Given the description of an element on the screen output the (x, y) to click on. 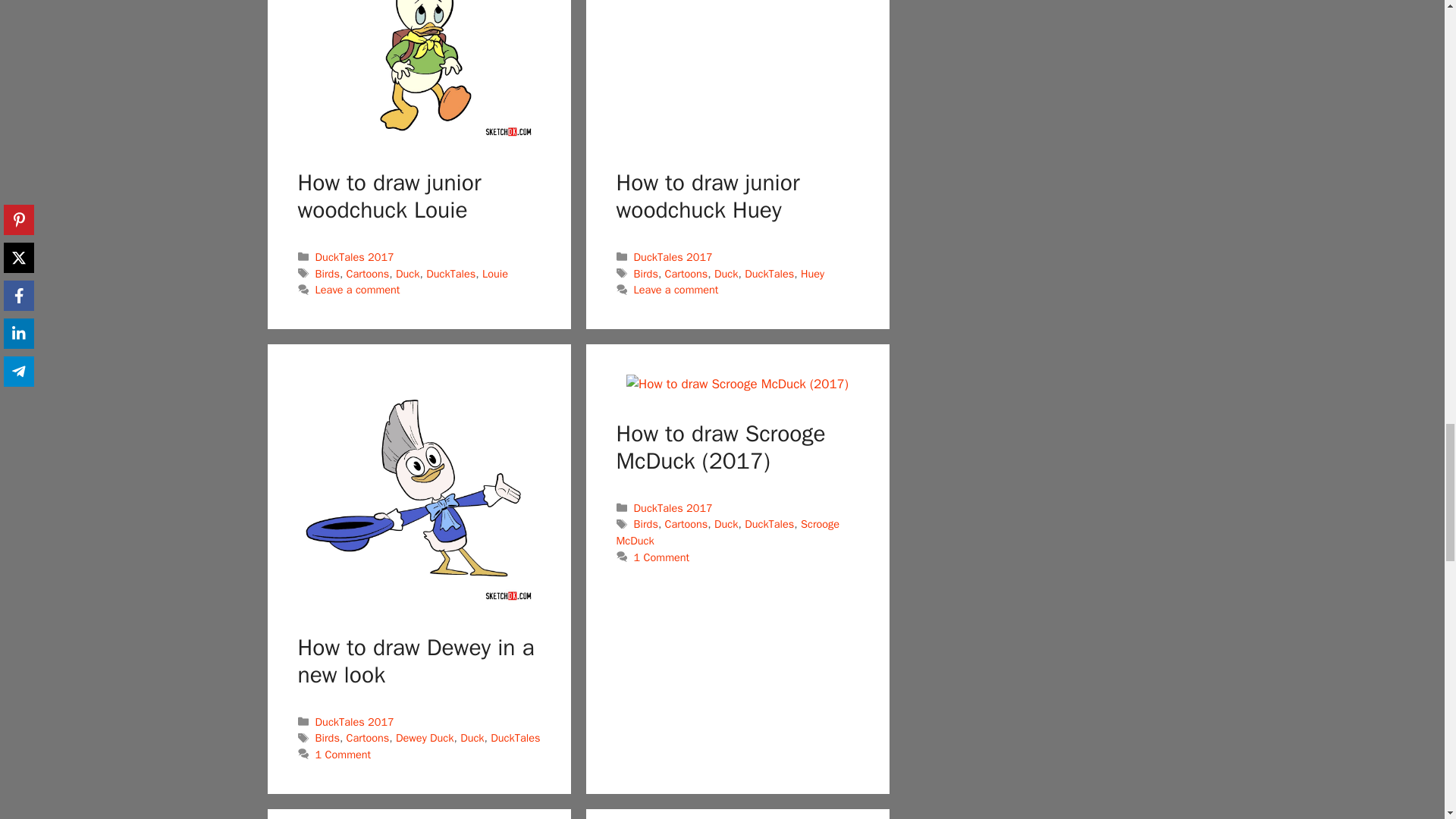
How to draw junior woodchuck Huey (736, 69)
How to draw Dewey in a new look (418, 487)
How to draw junior woodchuck Louie (418, 69)
